Given the description of an element on the screen output the (x, y) to click on. 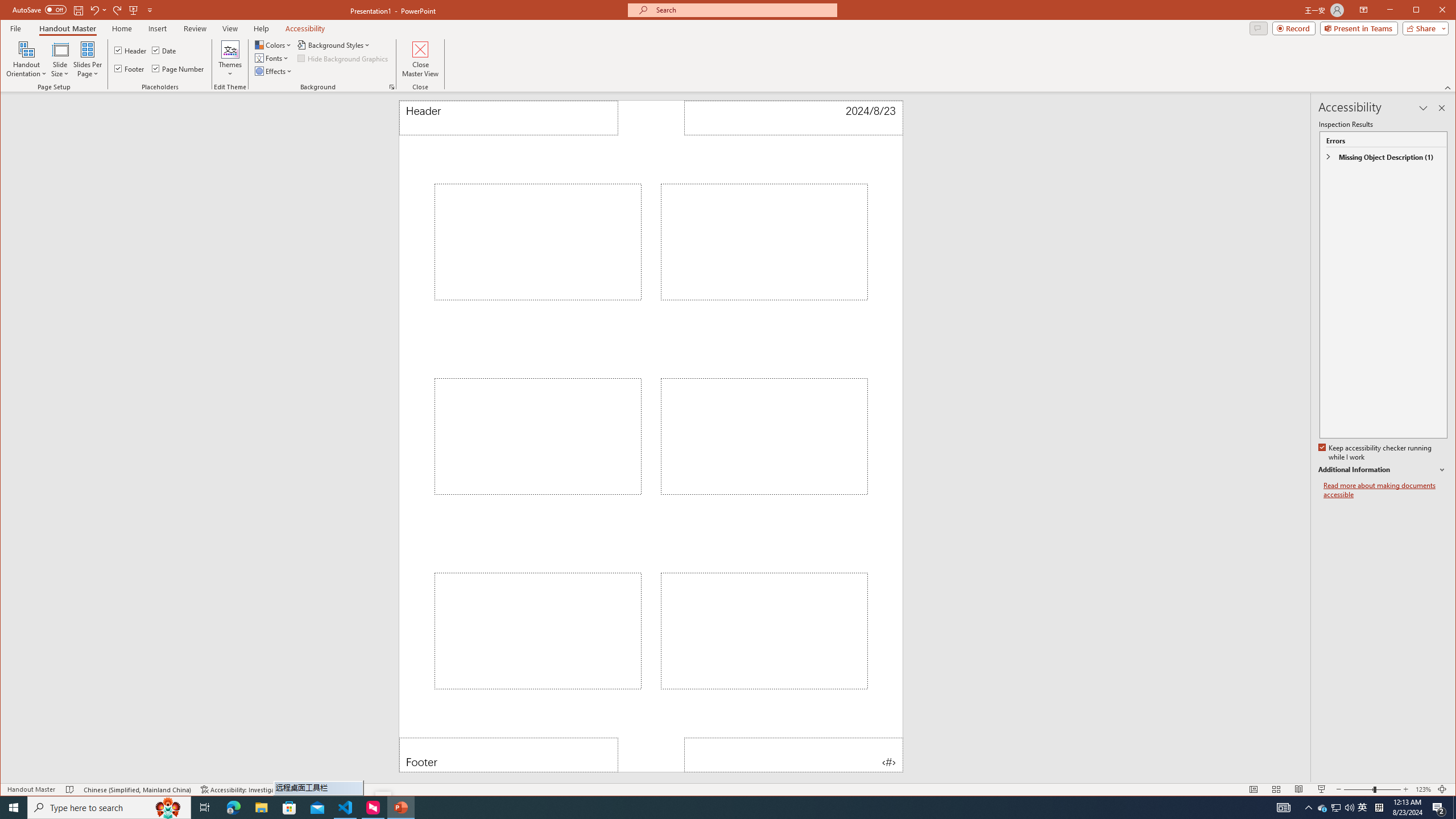
Colors (274, 44)
PowerPoint - 1 running window (400, 807)
Handout Orientation (1362, 807)
Additional Information (26, 59)
Page Number (1382, 469)
Type here to search (178, 68)
